Given the description of an element on the screen output the (x, y) to click on. 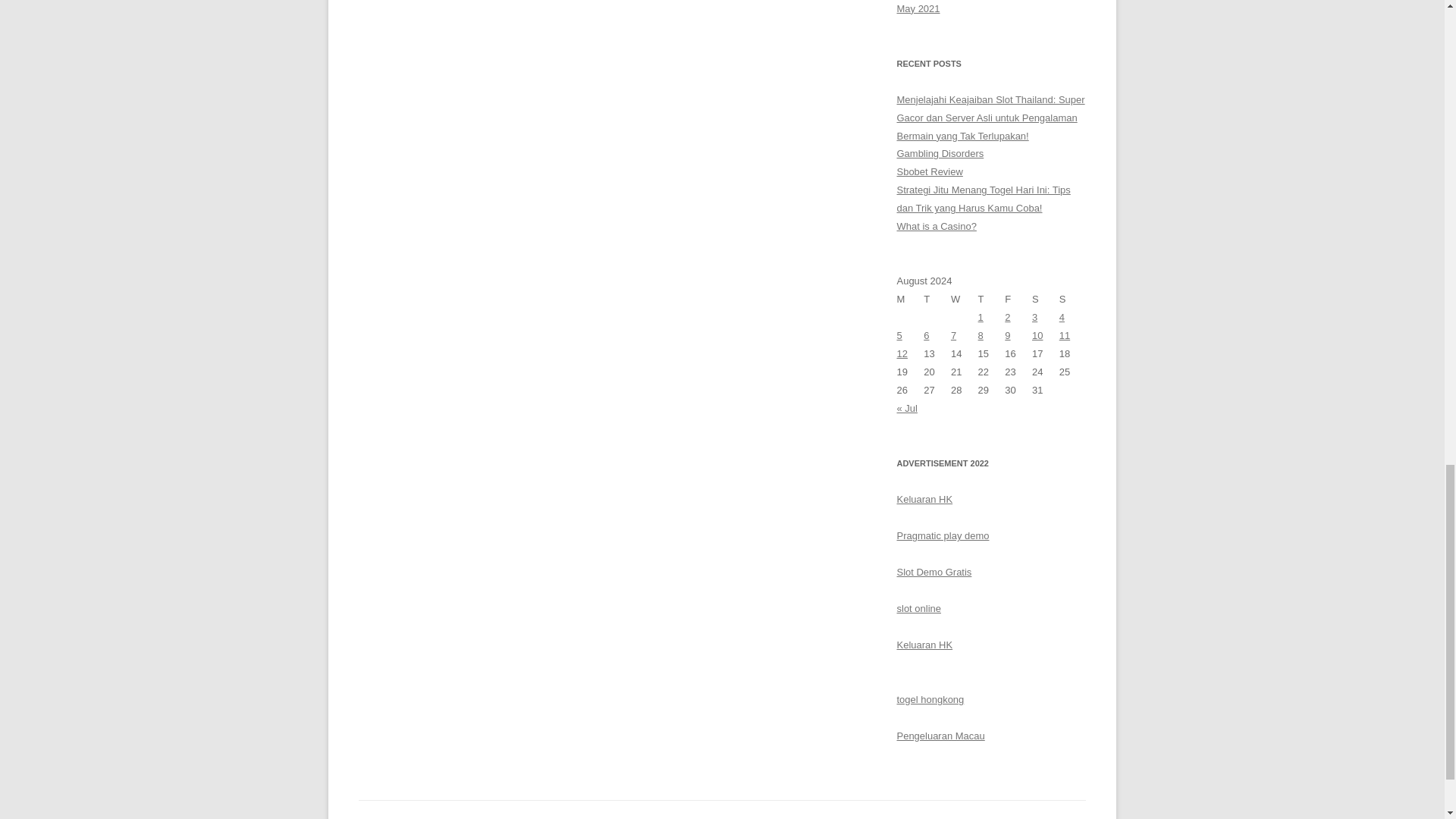
Sunday (1072, 299)
Monday (909, 299)
Friday (1018, 299)
Saturday (1045, 299)
Tuesday (936, 299)
Thursday (992, 299)
Wednesday (964, 299)
